Given the description of an element on the screen output the (x, y) to click on. 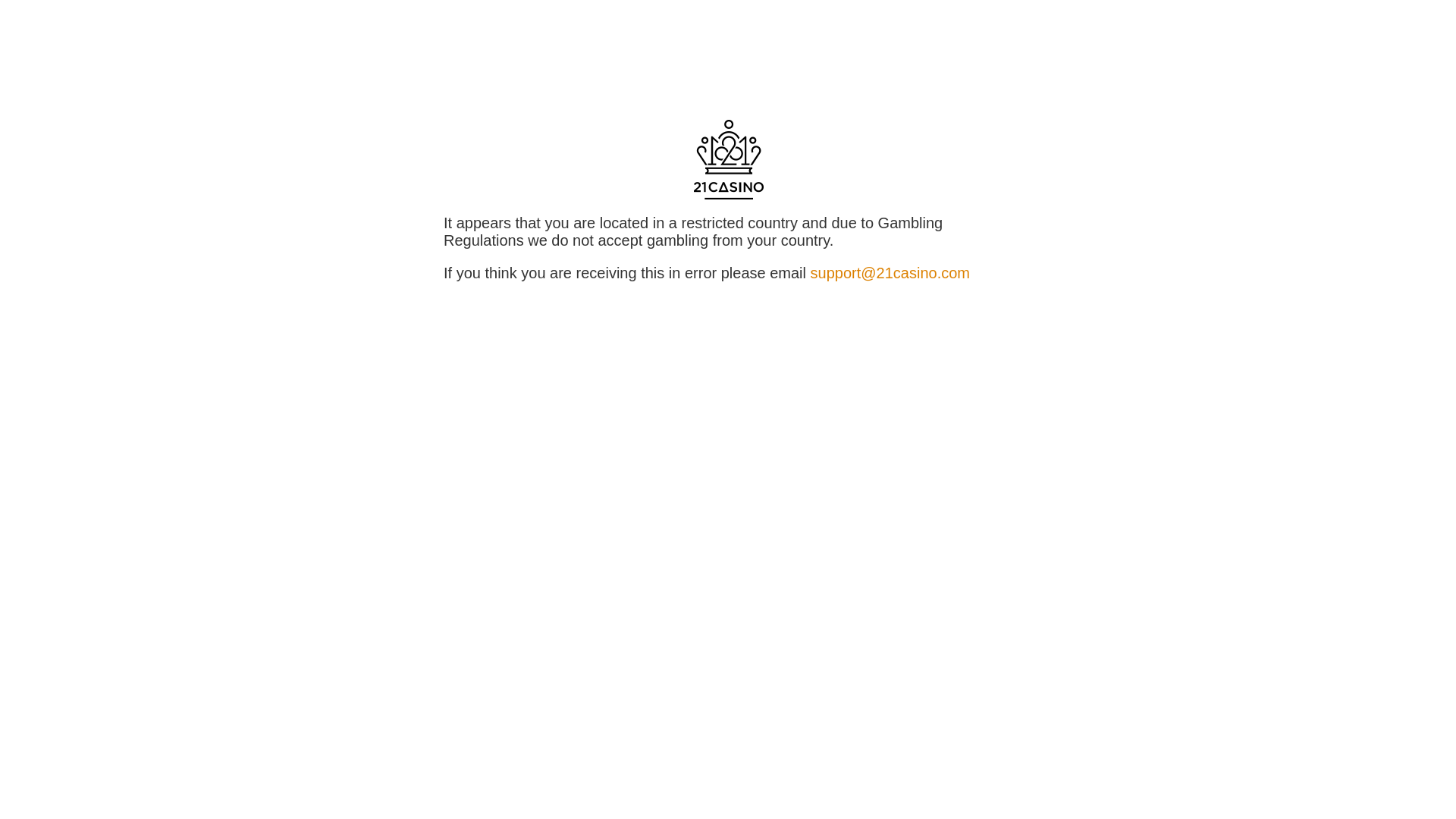
support@21casino.com Element type: text (889, 272)
